Given the description of an element on the screen output the (x, y) to click on. 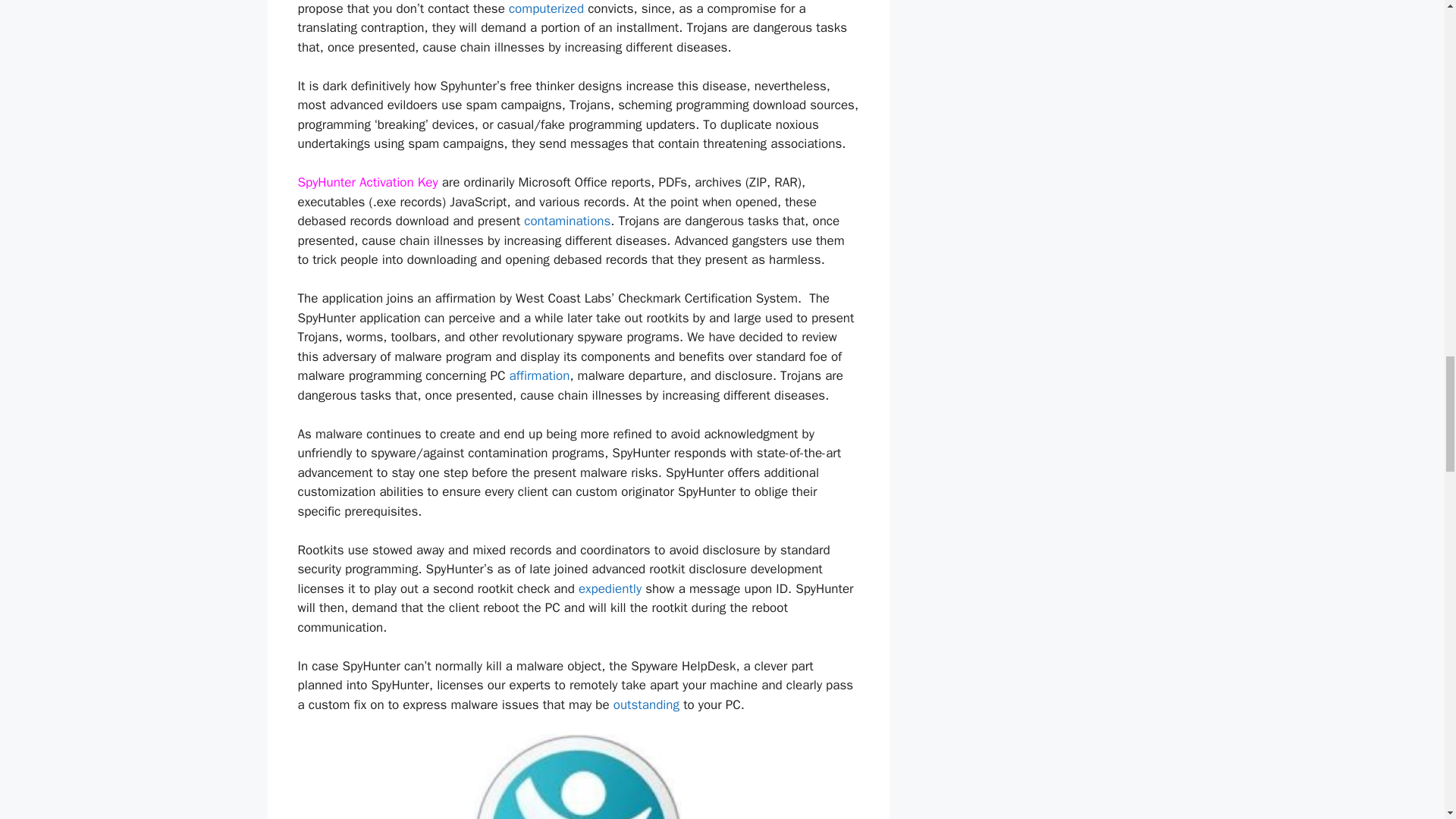
affirmation (539, 375)
expediently (610, 588)
computerized (545, 8)
outstanding (645, 704)
contaminations (567, 220)
